Given the description of an element on the screen output the (x, y) to click on. 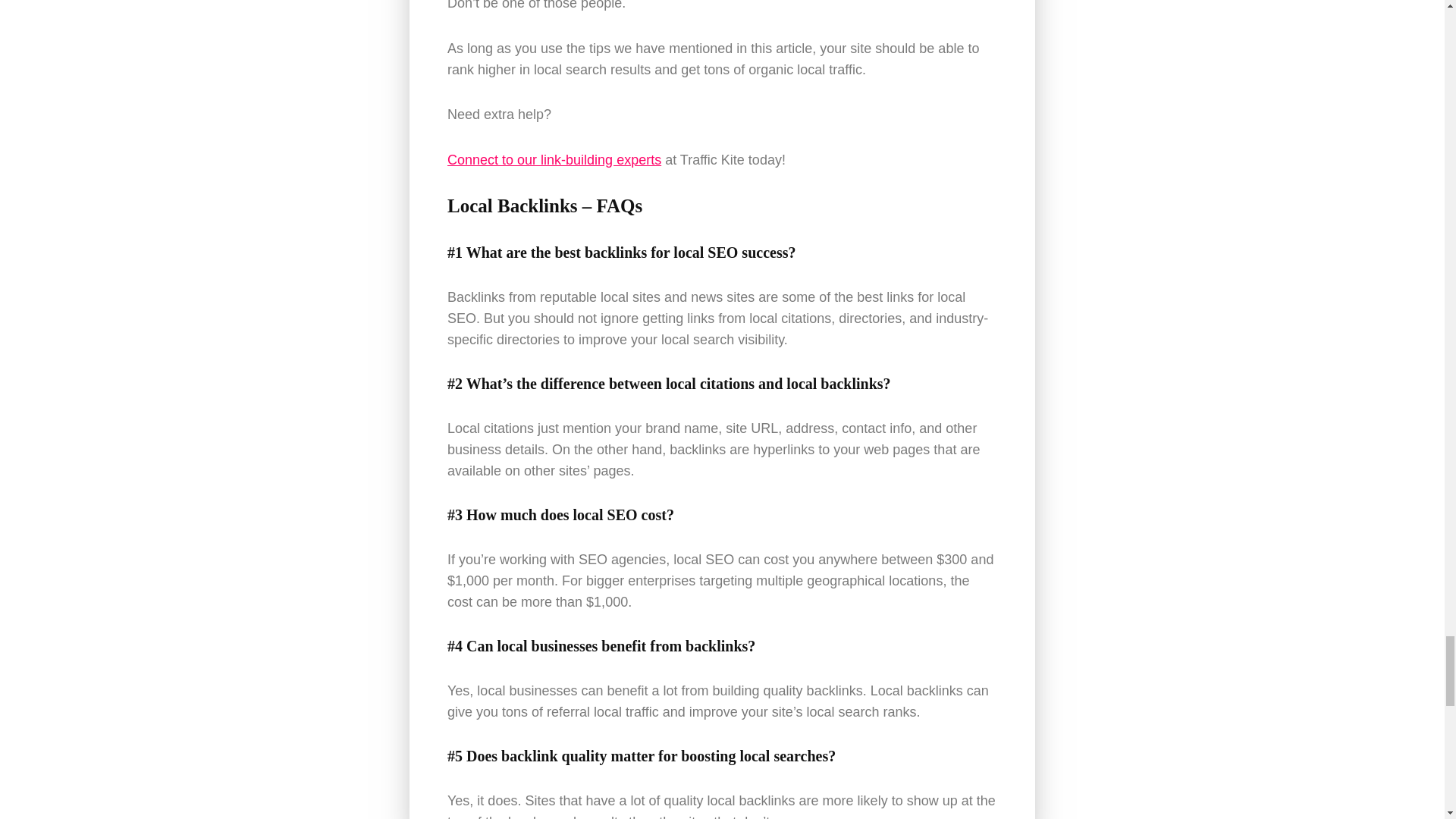
Connect to our link-building experts (553, 159)
